Given the description of an element on the screen output the (x, y) to click on. 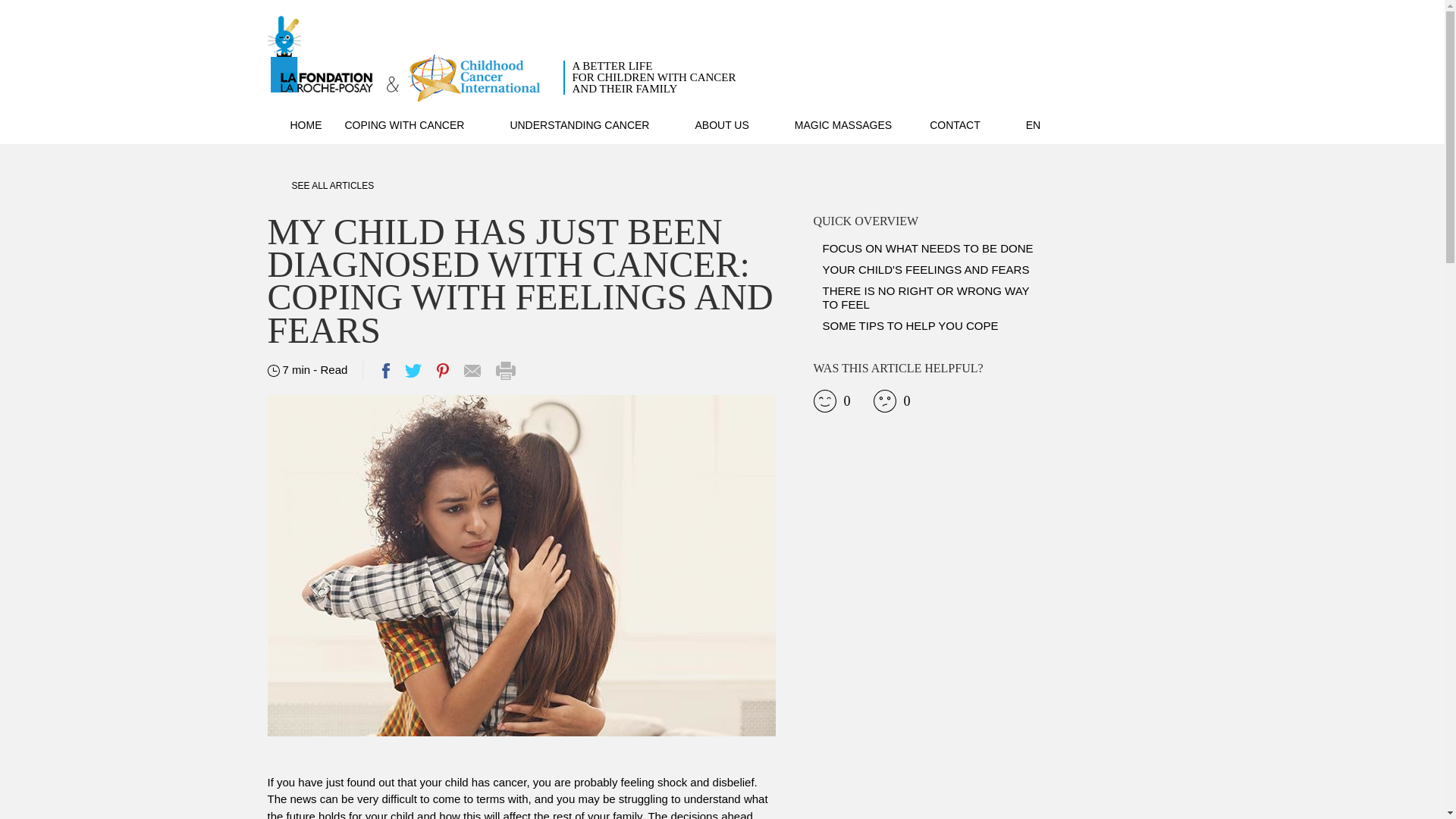
print (505, 370)
ABOUT US (732, 124)
EN (1044, 124)
MAGIC MASSAGES (842, 124)
HOME (293, 124)
UNDERSTANDING CANCER (590, 124)
Twitter (413, 370)
MailTo (472, 370)
Pinterest (442, 370)
Facebook (500, 58)
CONTACT (385, 370)
COPING WITH CANCER (966, 124)
